Given the description of an element on the screen output the (x, y) to click on. 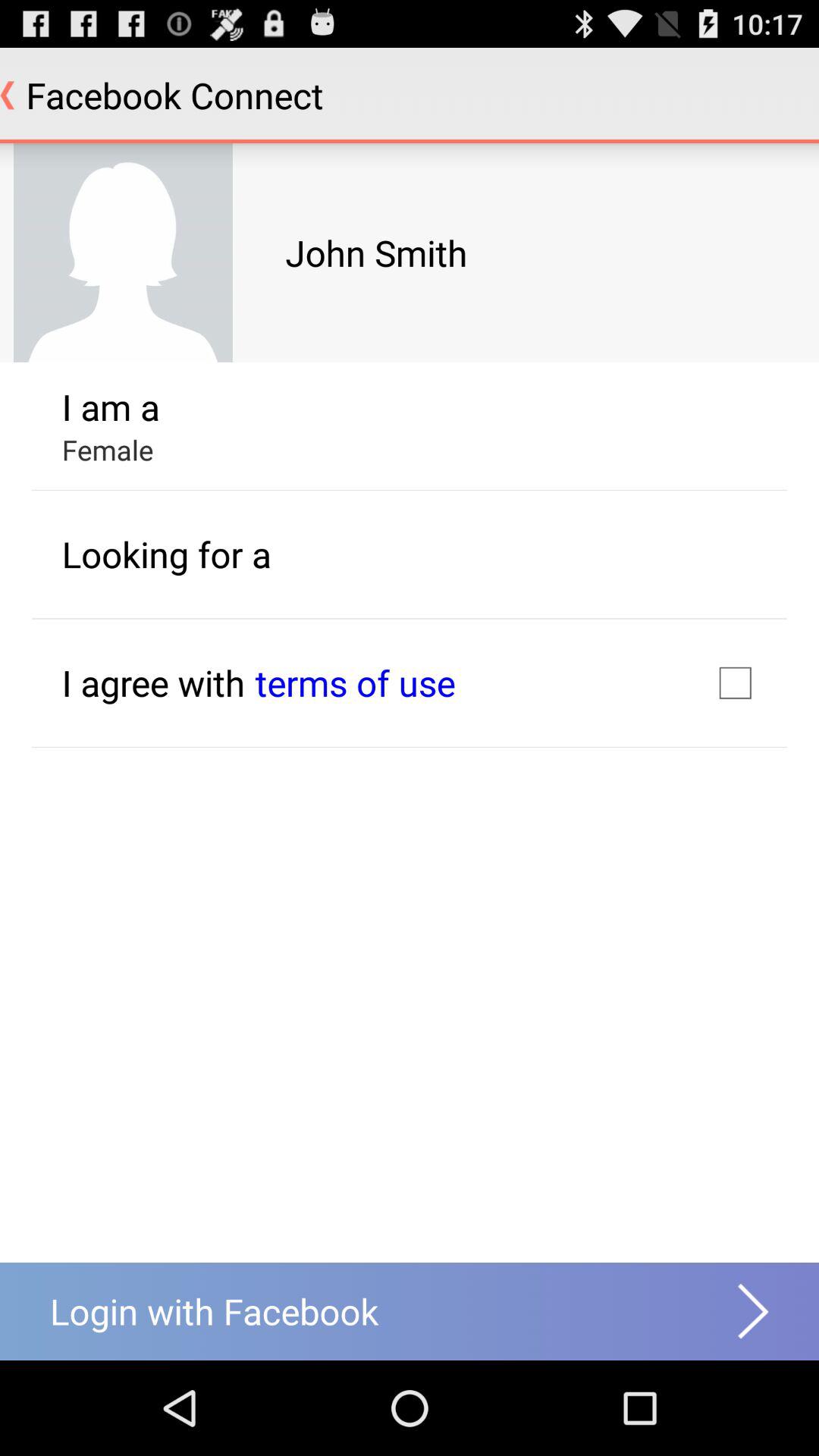
turn on i am a item (110, 406)
